Given the description of an element on the screen output the (x, y) to click on. 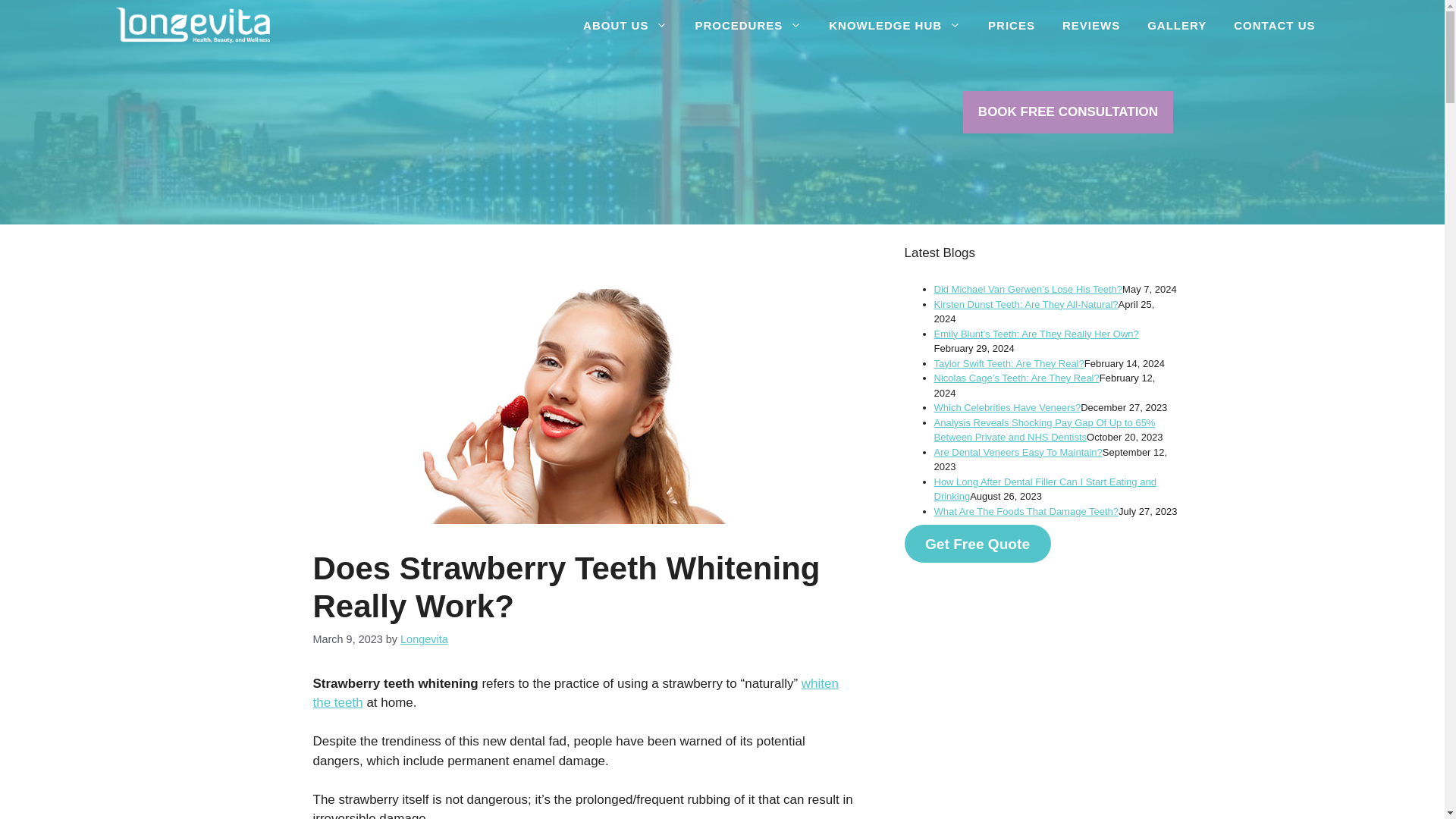
PRICES (1011, 25)
whiten the teeth (575, 693)
BOOK FREE CONSULTATION (1067, 111)
GALLERY (1177, 25)
PROCEDURES (748, 25)
ABOUT US (625, 25)
Longevita Dental (192, 25)
REVIEWS (1091, 25)
Longevita (424, 639)
View all posts by Longevita (424, 639)
KNOWLEDGE HUB (894, 25)
CONTACT US (1273, 25)
